Given the description of an element on the screen output the (x, y) to click on. 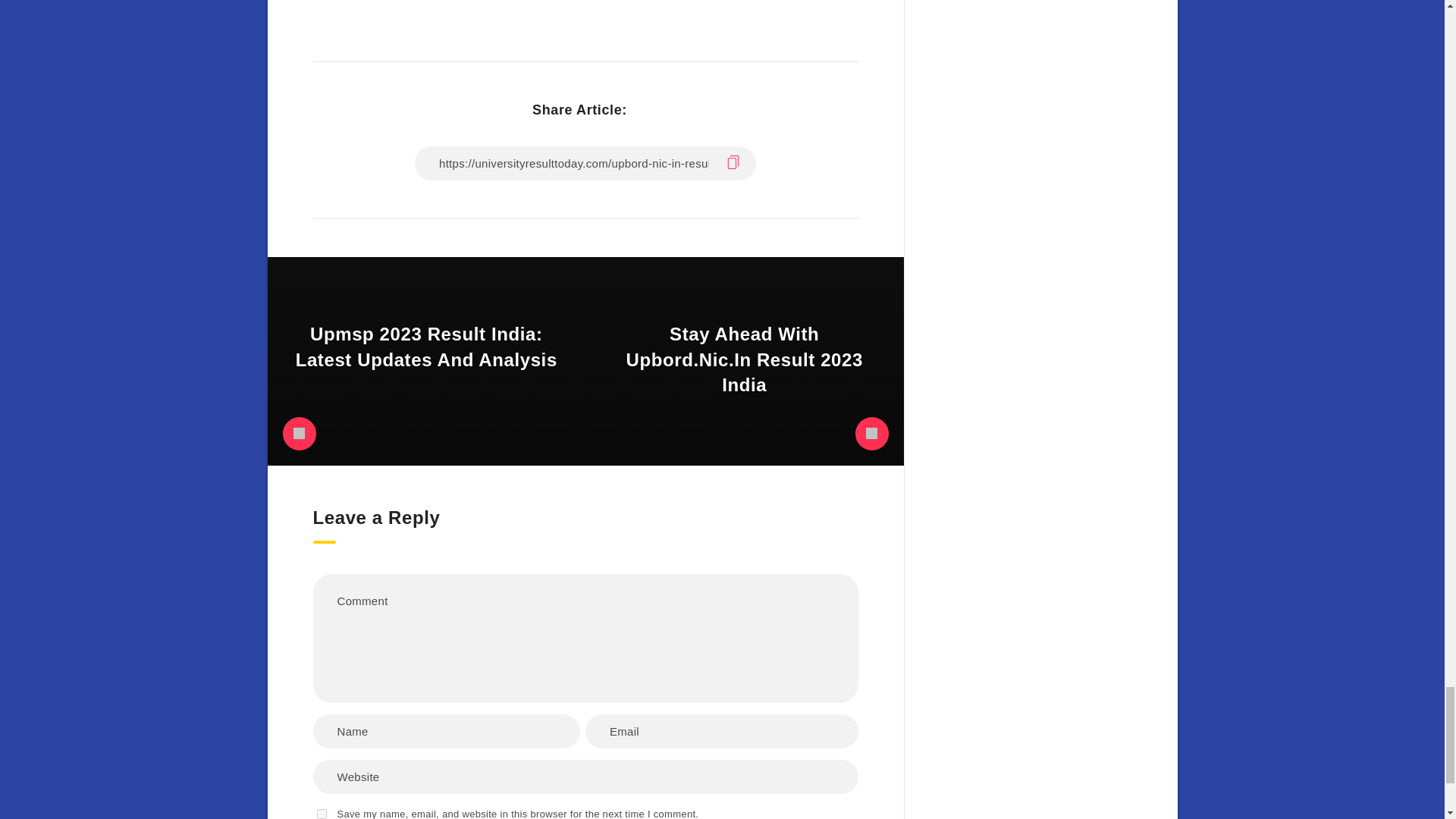
yes (321, 814)
